Given the description of an element on the screen output the (x, y) to click on. 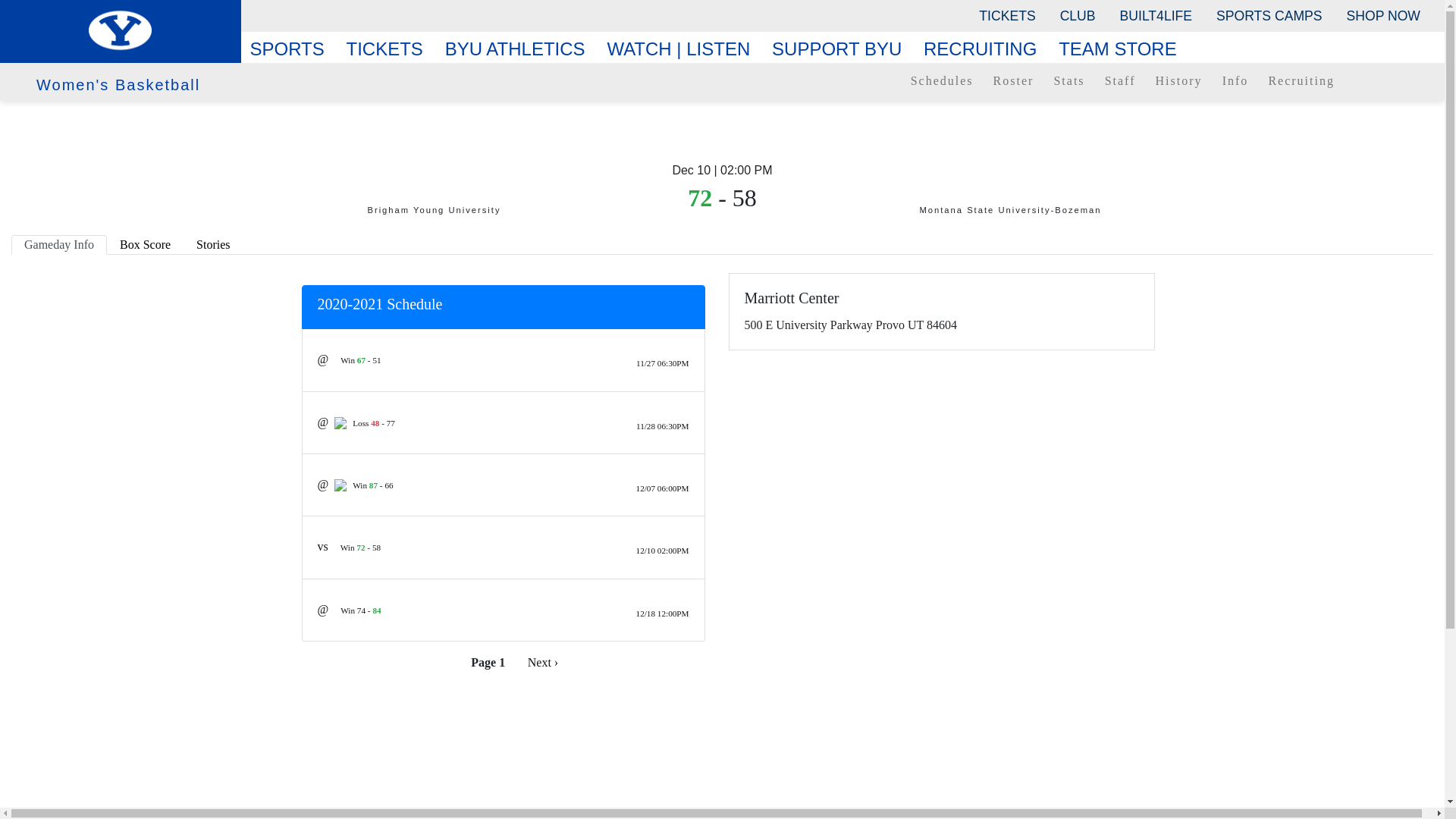
SPORTS (292, 49)
BUILT4LIFE (1156, 15)
SPORTS CAMPS (1268, 15)
CLUB (1078, 15)
TICKETS (1006, 15)
Go to next page (542, 662)
SHOP NOW (1383, 15)
